Given the description of an element on the screen output the (x, y) to click on. 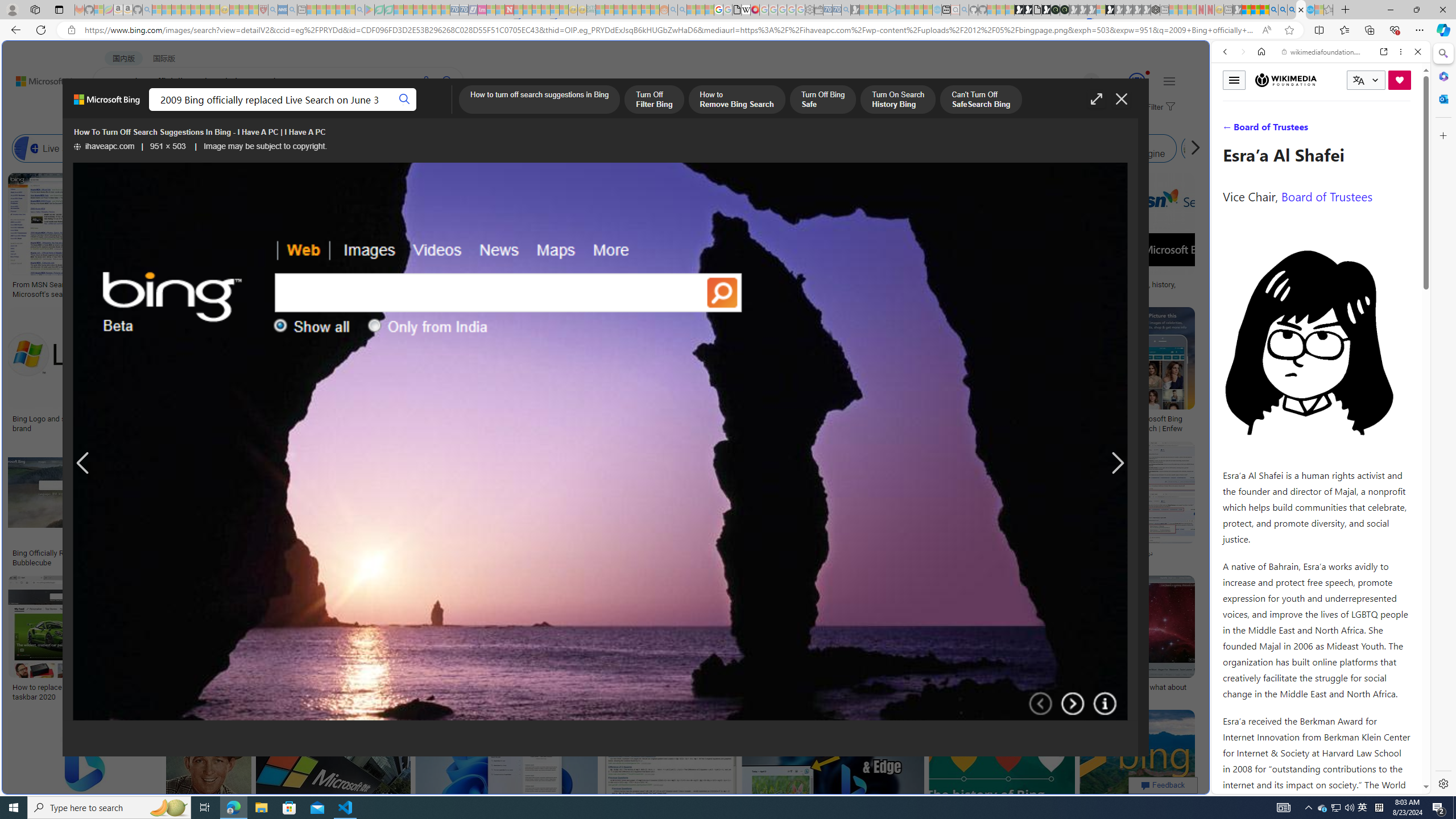
Class: b_pri_nav_svg (240, 112)
github - Search - Sleeping (964, 9)
Class: item col (1233, 148)
Close image (1121, 99)
microsoft bing (991, 419)
Can't Turn Off SafeSearch Bing (981, 100)
Bing: rebranding search: idsgn (a design blog)Save (701, 237)
